Given the description of an element on the screen output the (x, y) to click on. 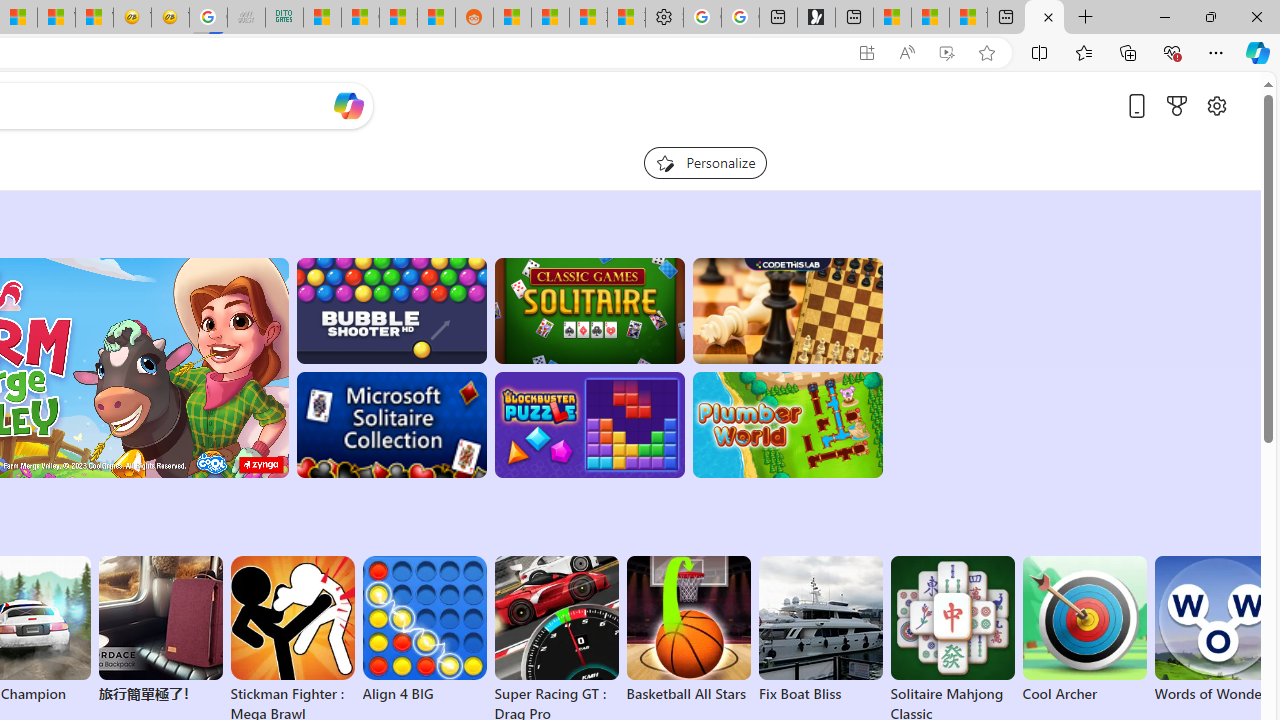
BlockBuster: Adventures Puzzle (589, 425)
Fix Boat Bliss (820, 694)
DITOGAMES AG Imprint (284, 17)
Enhance video (946, 53)
Personalize your feed" (704, 162)
Open settings (1216, 105)
